Given the description of an element on the screen output the (x, y) to click on. 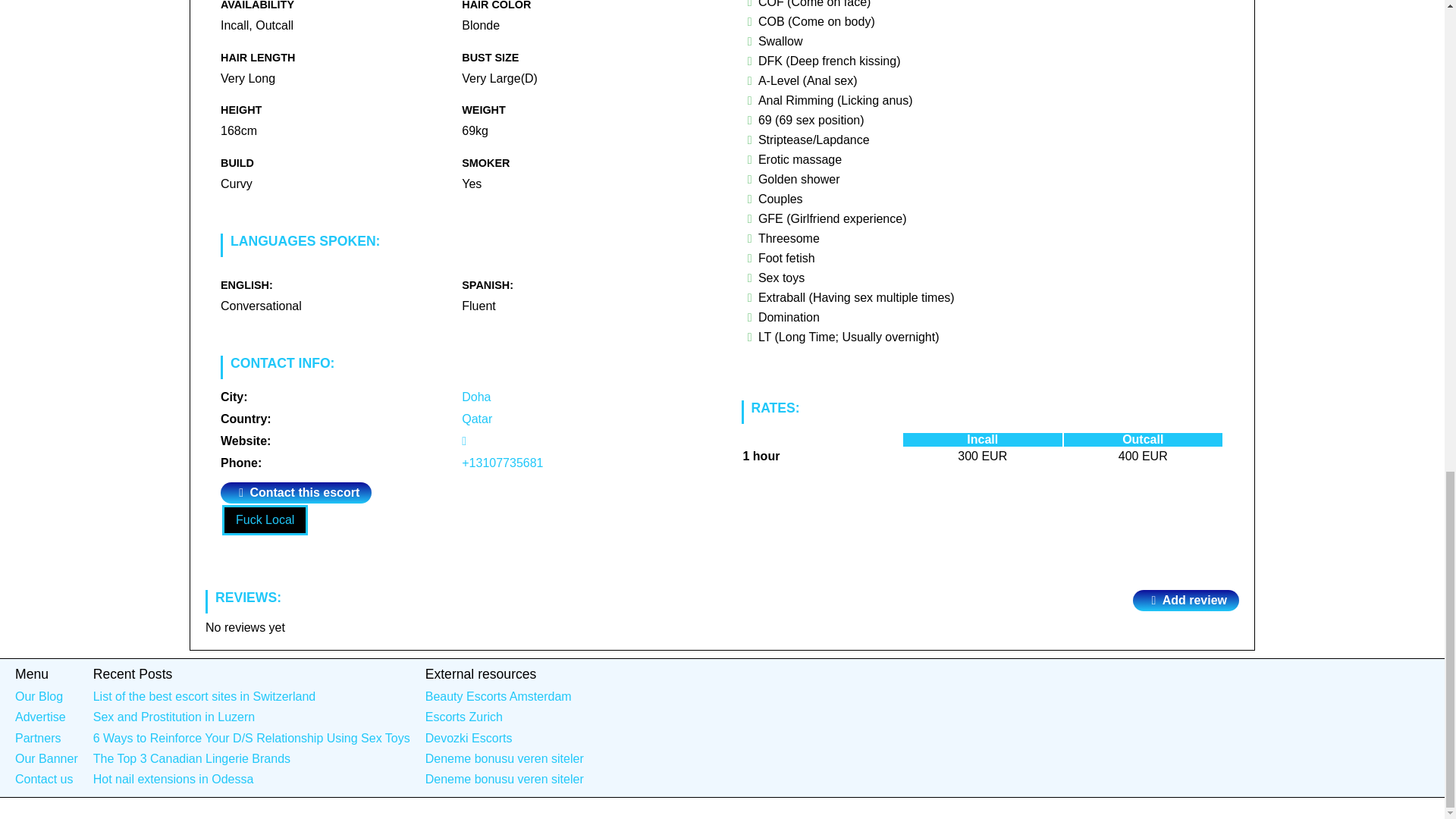
Doha (475, 396)
Qatar (476, 418)
